Given the description of an element on the screen output the (x, y) to click on. 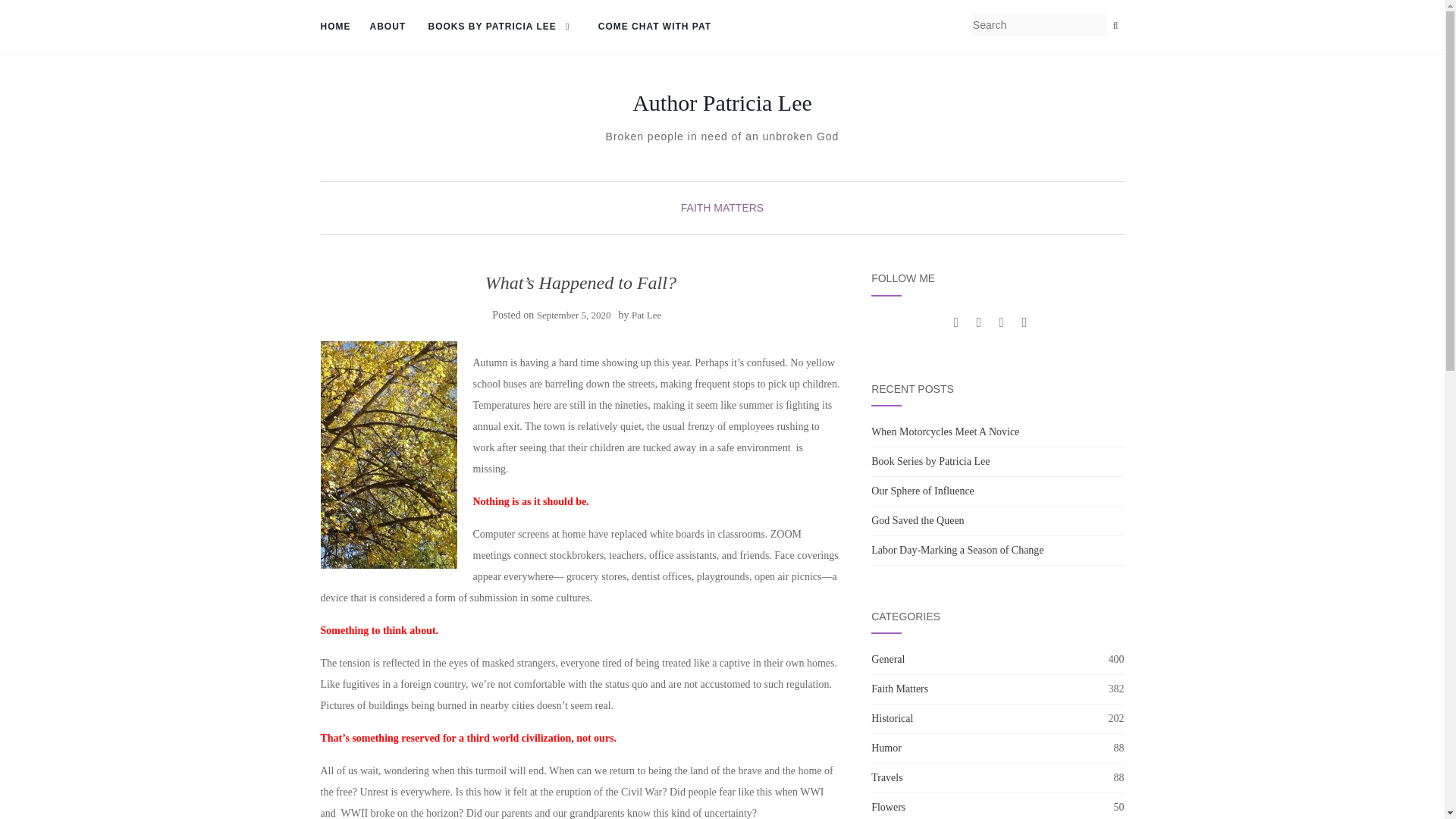
Our Sphere of Influence (922, 490)
Books by Patricia Lee (502, 27)
Come Chat with Pat (654, 27)
FAITH MATTERS (721, 207)
Book Series by Patricia Lee (930, 460)
When Motorcycles Meet A Novice (944, 431)
Author Patricia Lee (721, 102)
September 5, 2020 (574, 315)
God Saved the Queen (916, 520)
COME CHAT WITH PAT (654, 27)
